Given the description of an element on the screen output the (x, y) to click on. 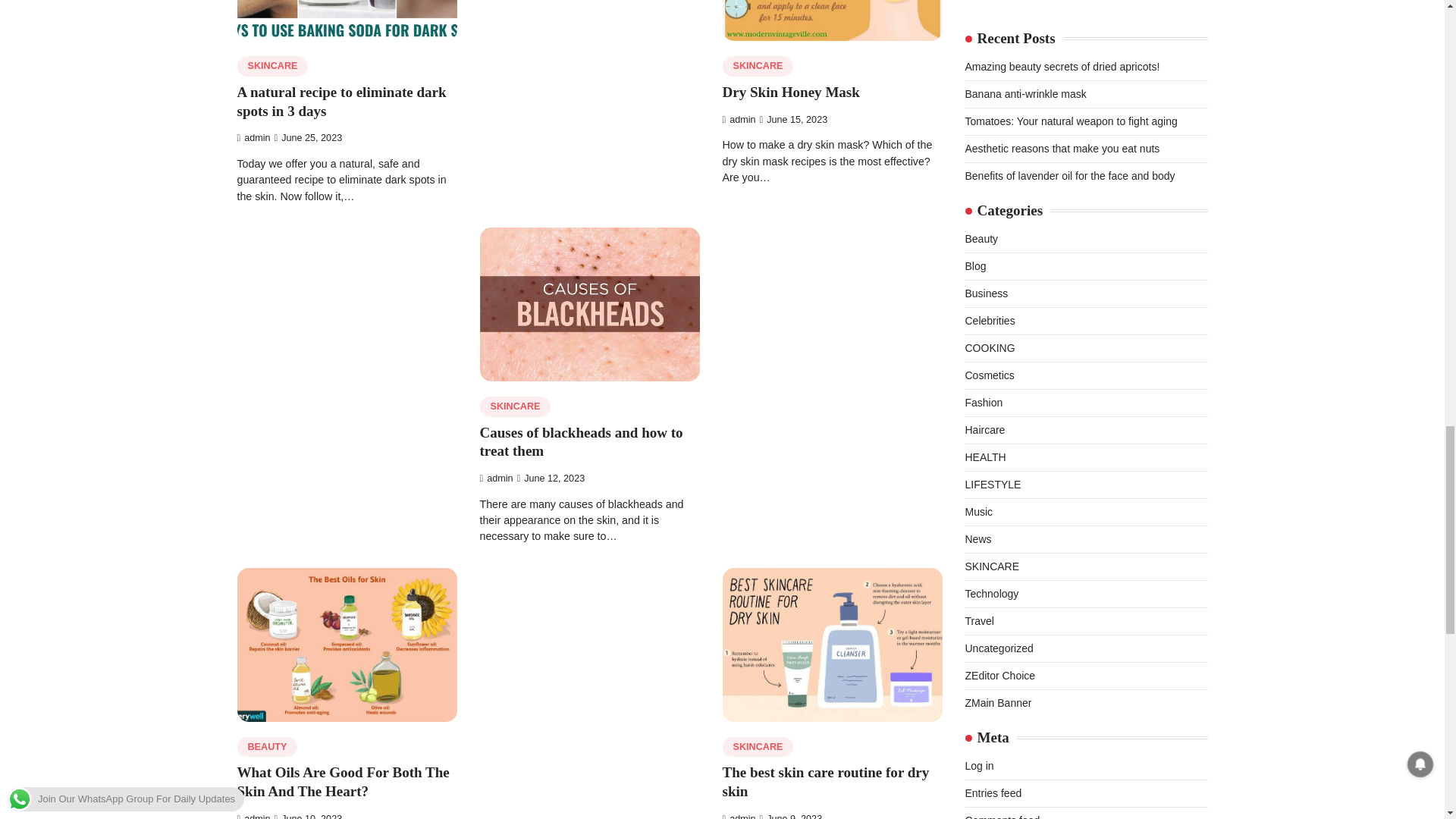
June 25, 2023 (308, 137)
Dry Skin Honey Mask (790, 91)
SKINCARE (757, 66)
A natural recipe to eliminate dark spots in 3 days (340, 101)
SKINCARE (271, 66)
admin (252, 137)
